Given the description of an element on the screen output the (x, y) to click on. 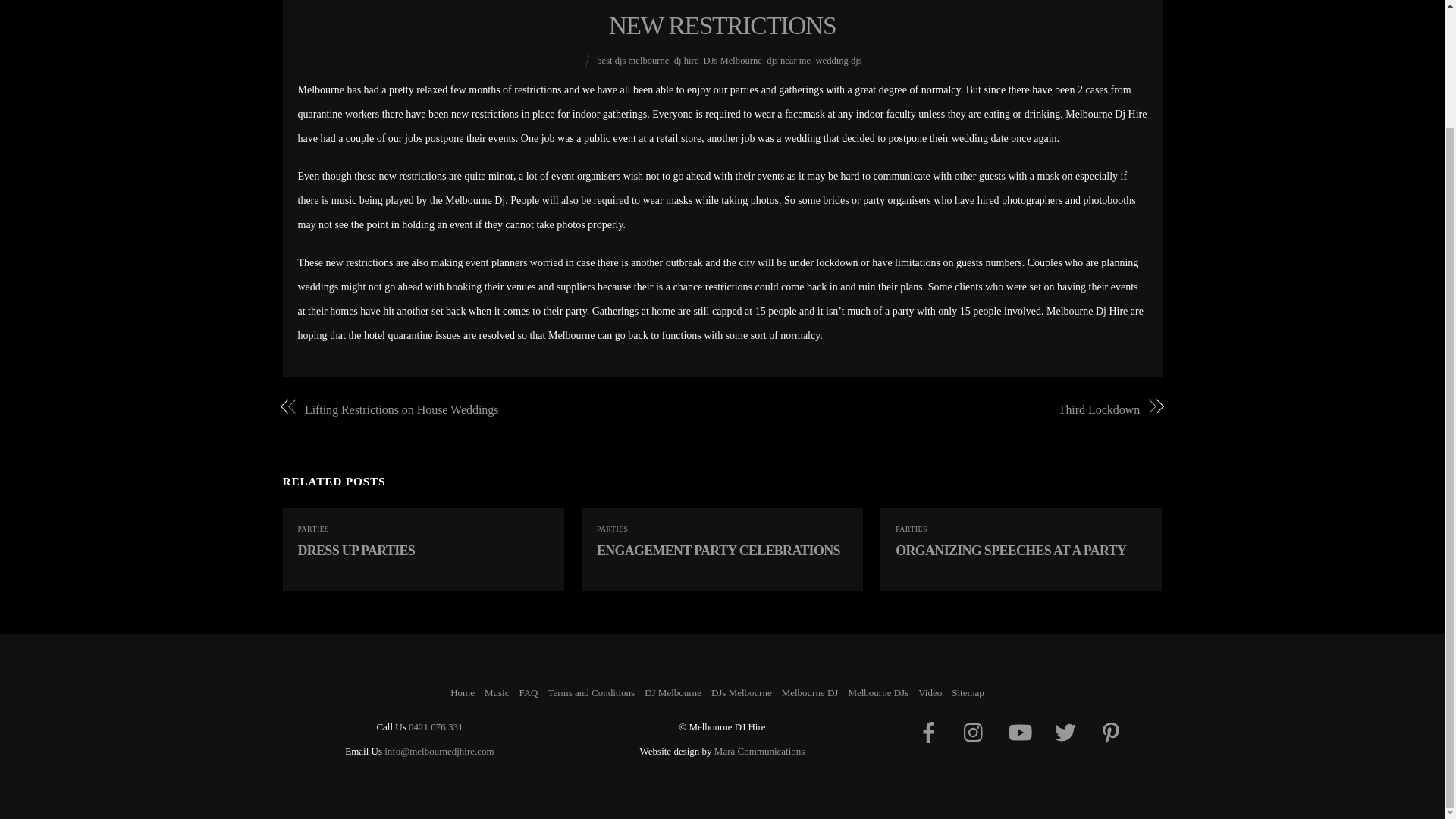
DRESS UP PARTIES (355, 549)
wedding djs (838, 60)
Lifting Restrictions on House Weddings (499, 410)
djs near me (788, 60)
dj hire (686, 60)
Video (930, 692)
DJs Melbourne (741, 692)
NEW RESTRICTIONS (721, 25)
ORGANIZING SPEECHES AT A PARTY (1010, 549)
ENGAGEMENT PARTY CELEBRATIONS (718, 549)
PARTIES (911, 528)
Melbourne DJ (809, 692)
DJs Melbourne (732, 60)
0421 076 331 (436, 726)
Home (461, 692)
